Given the description of an element on the screen output the (x, y) to click on. 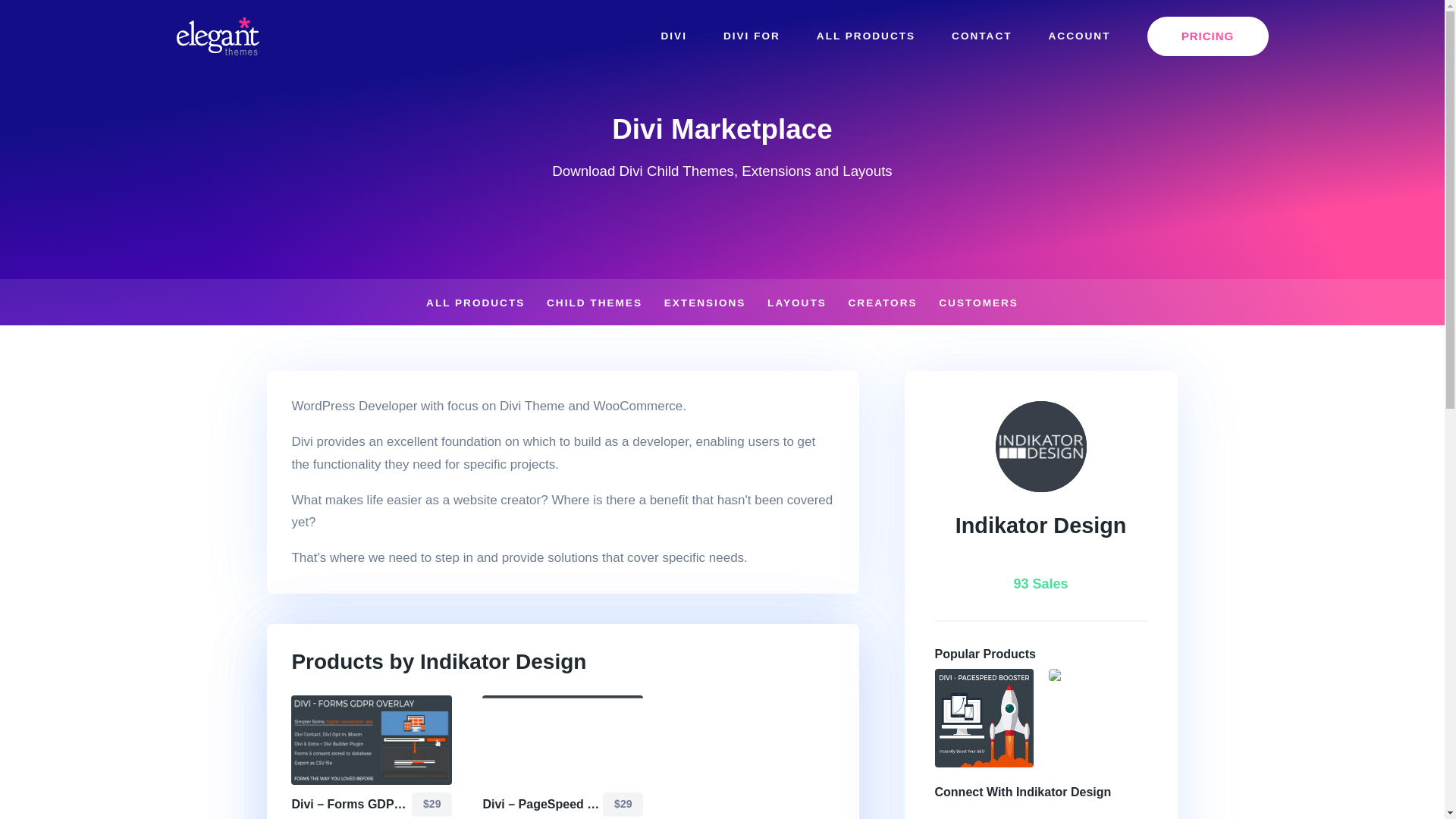
DIVI FOR (750, 35)
DIVI (673, 35)
ALL PRODUCTS (865, 35)
CONTACT (981, 35)
